Given the description of an element on the screen output the (x, y) to click on. 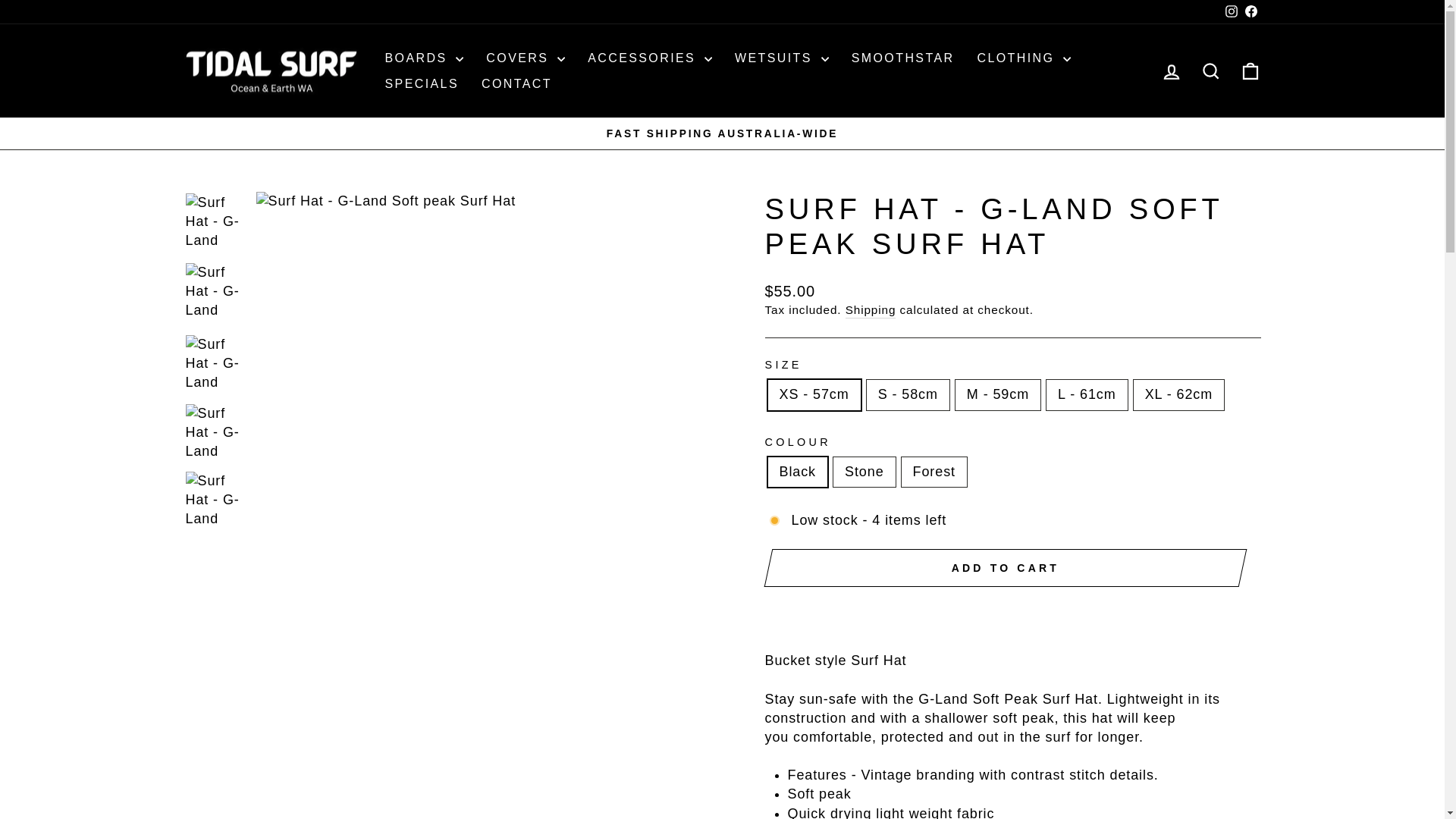
ACCOUNT (1170, 71)
ICON-SEARCH (1210, 70)
ICON-BAG-MINIMAL (1249, 70)
